Given the description of an element on the screen output the (x, y) to click on. 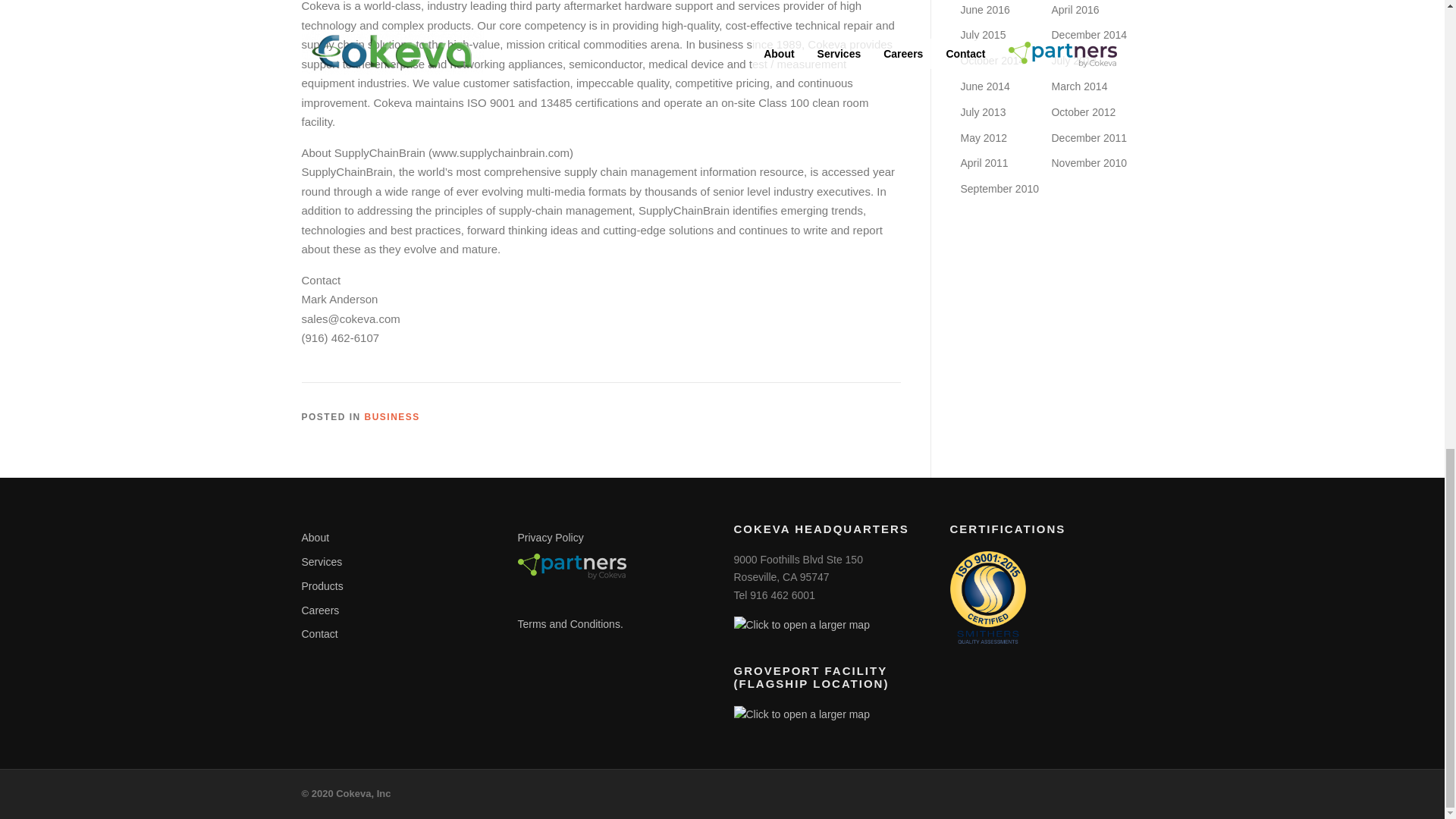
October 2012 (1083, 111)
About (315, 537)
April 2011 (983, 162)
November 2010 (1088, 162)
March 2014 (1078, 86)
December 2011 (1088, 137)
BUSINESS (392, 416)
Click to open a larger map (801, 624)
April 2016 (1075, 9)
July 2014 (1073, 60)
September 2010 (999, 188)
December 2014 (1088, 34)
July 2015 (982, 34)
Click to open a larger map (801, 714)
June 2016 (984, 9)
